Given the description of an element on the screen output the (x, y) to click on. 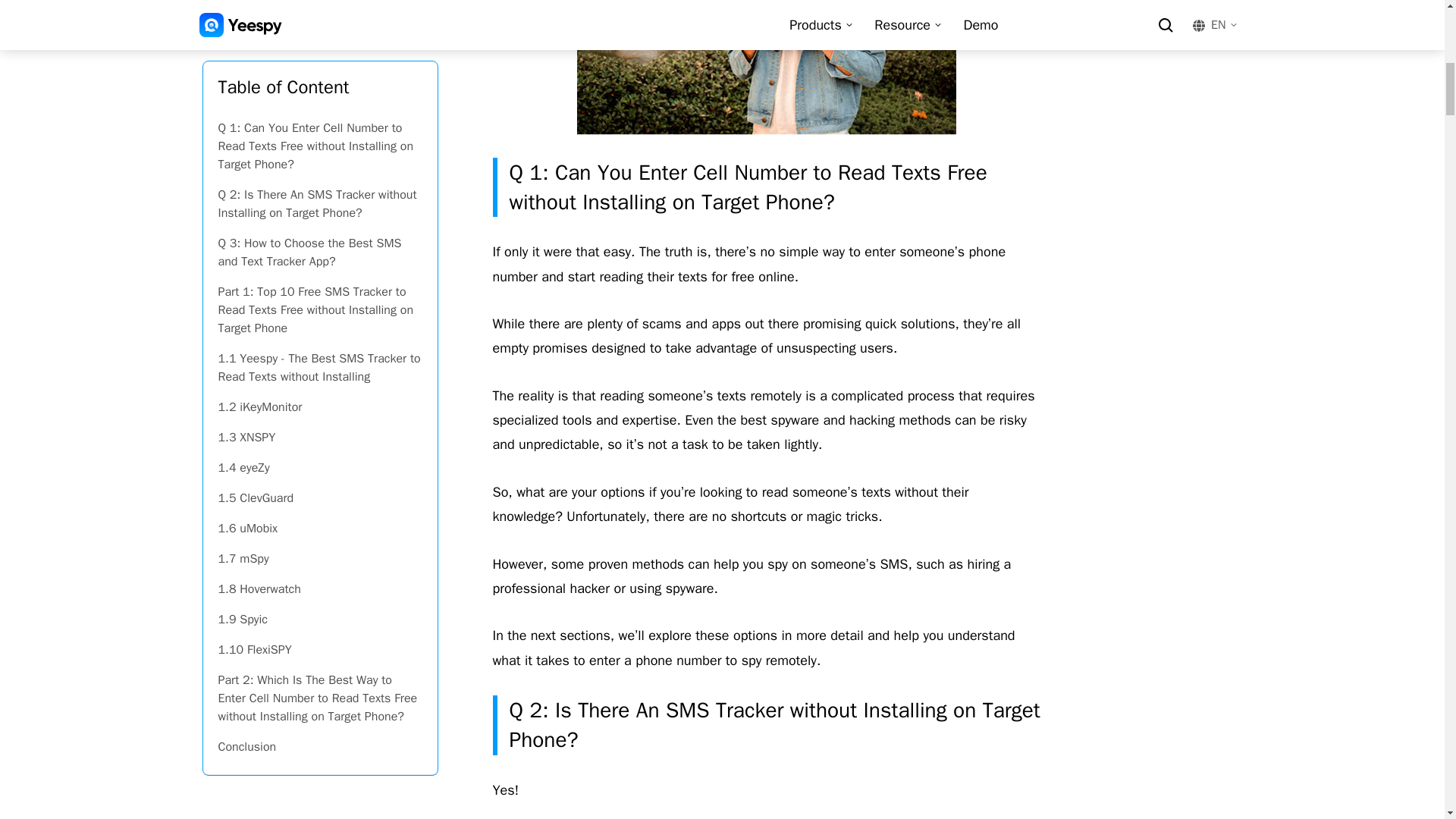
1.10 FlexiSPY (319, 136)
1.6 uMobix (319, 15)
Conclusion (319, 233)
1.9 Spyic (319, 105)
1.8 Hoverwatch (319, 75)
1.7 mSpy (319, 45)
